Given the description of an element on the screen output the (x, y) to click on. 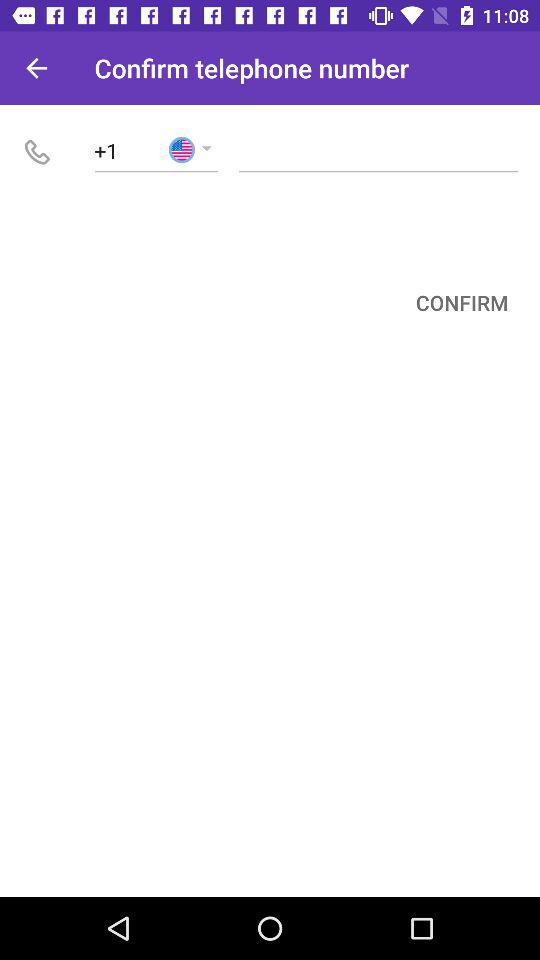
enter telephone number (378, 150)
